Given the description of an element on the screen output the (x, y) to click on. 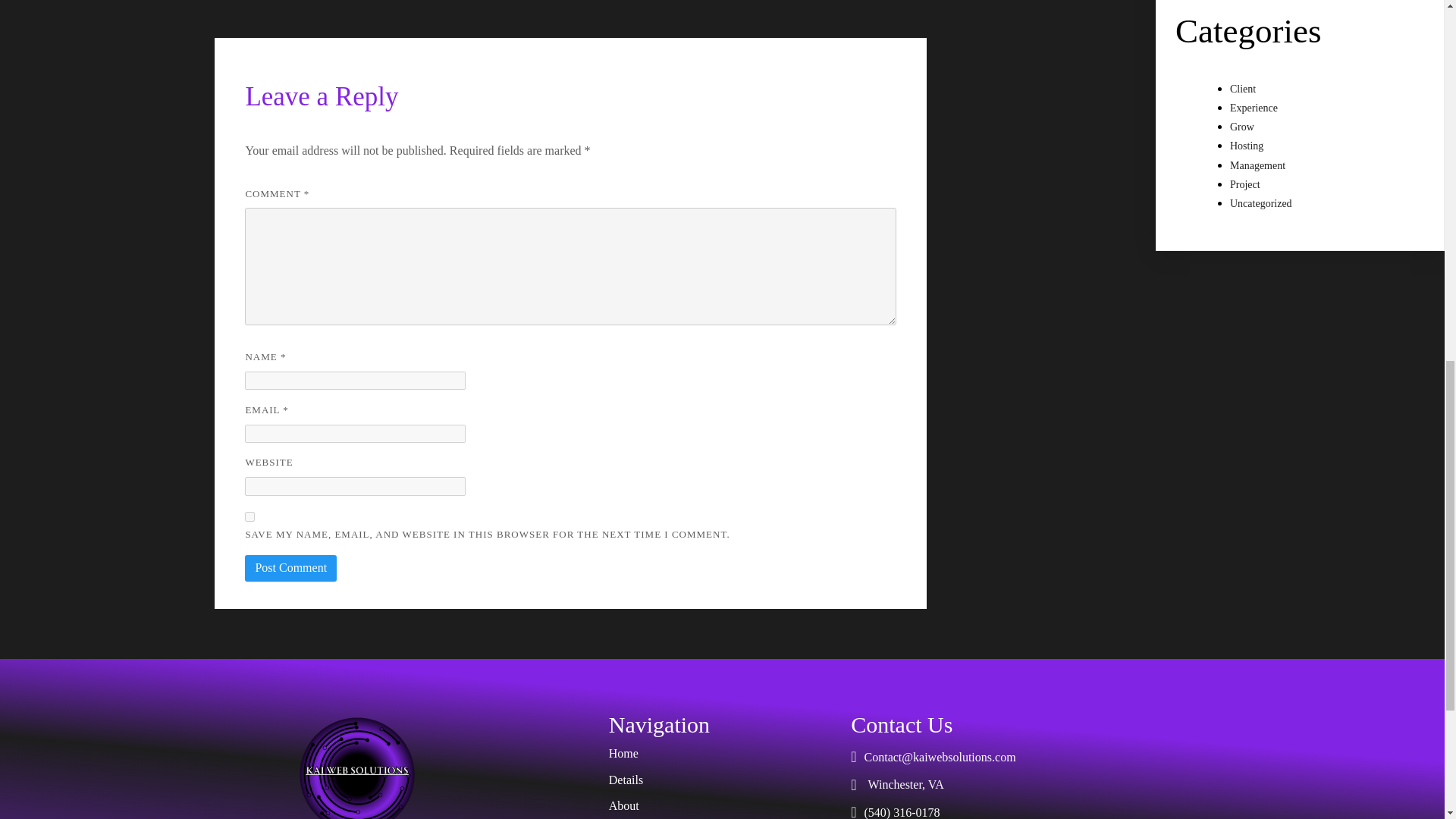
Hosting (1246, 145)
Post Comment (290, 567)
Project (1245, 184)
Grow (1241, 126)
Client (1242, 89)
Post Comment (290, 567)
Experience (1254, 107)
KWS New Logo no background (357, 765)
yes (249, 516)
Management (1257, 165)
Details (721, 780)
Home (721, 753)
Uncategorized (1261, 203)
